Given the description of an element on the screen output the (x, y) to click on. 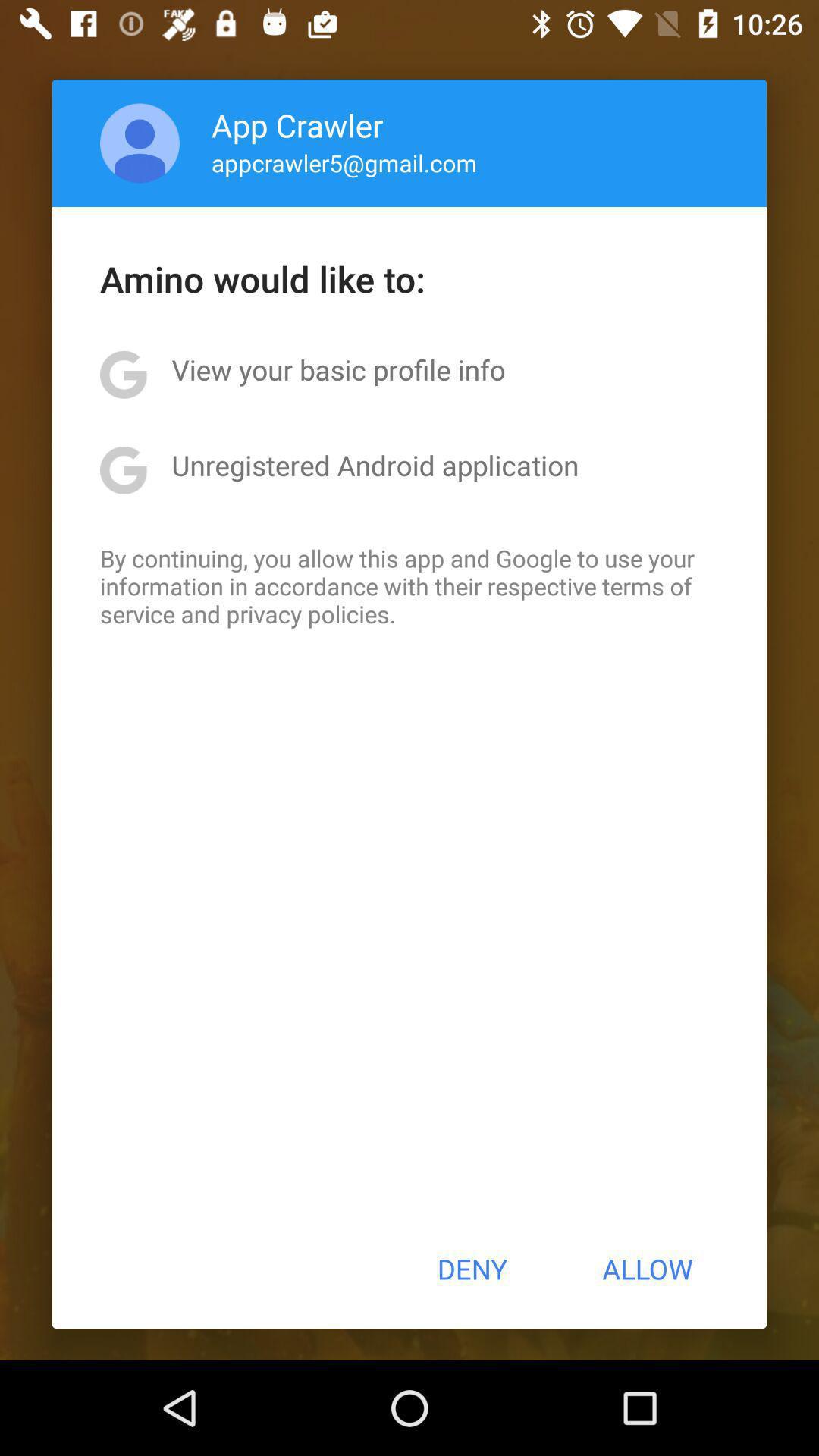
click the app below view your basic icon (374, 465)
